Given the description of an element on the screen output the (x, y) to click on. 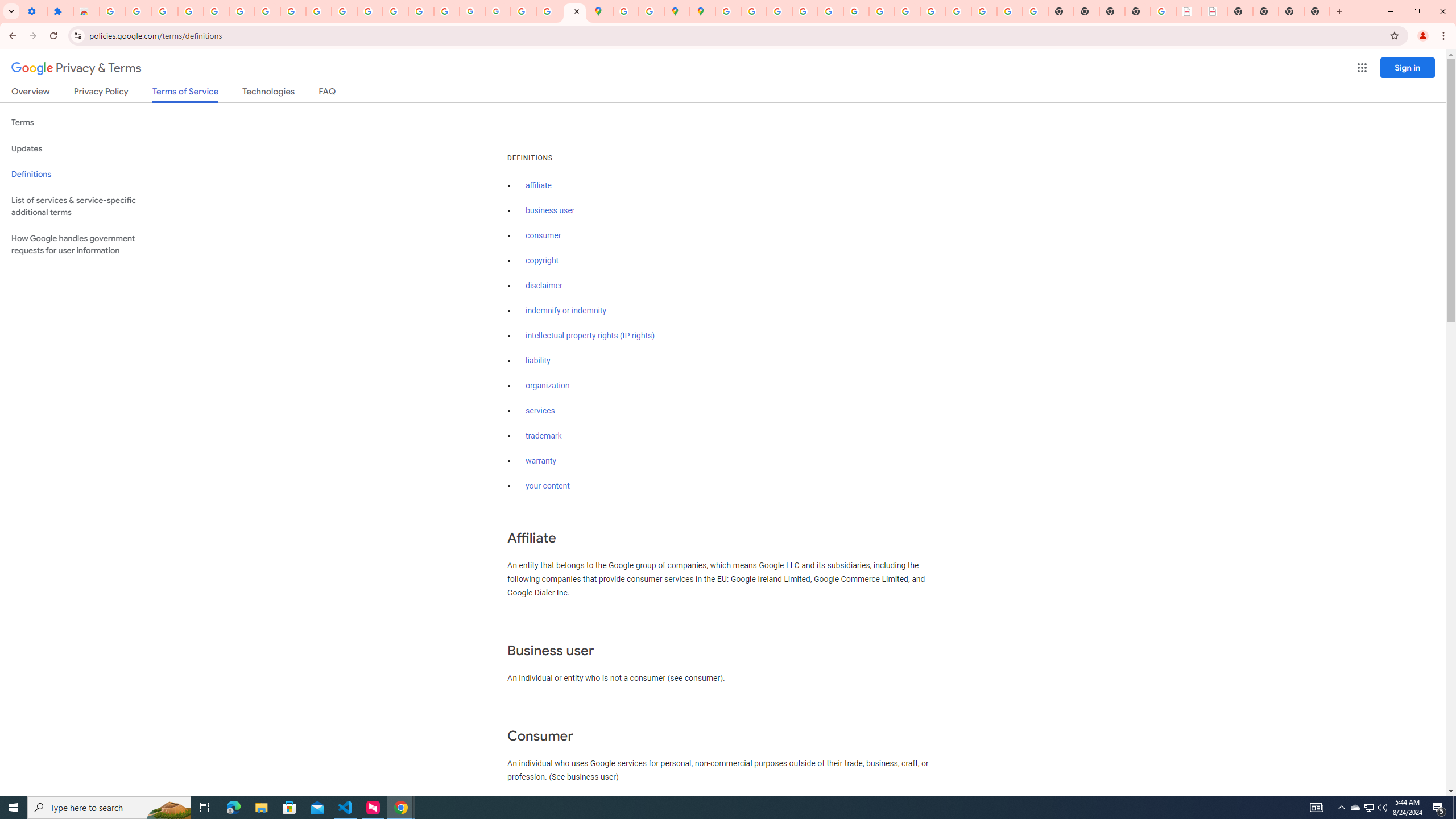
warranty (540, 461)
BAE Systems Brasil | BAE Systems (1213, 11)
Delete photos & videos - Computer - Google Photos Help (165, 11)
LAAD Defence & Security 2025 | BAE Systems (1188, 11)
Privacy Help Center - Policies Help (779, 11)
Google Maps (600, 11)
Sign in - Google Accounts (112, 11)
